Given the description of an element on the screen output the (x, y) to click on. 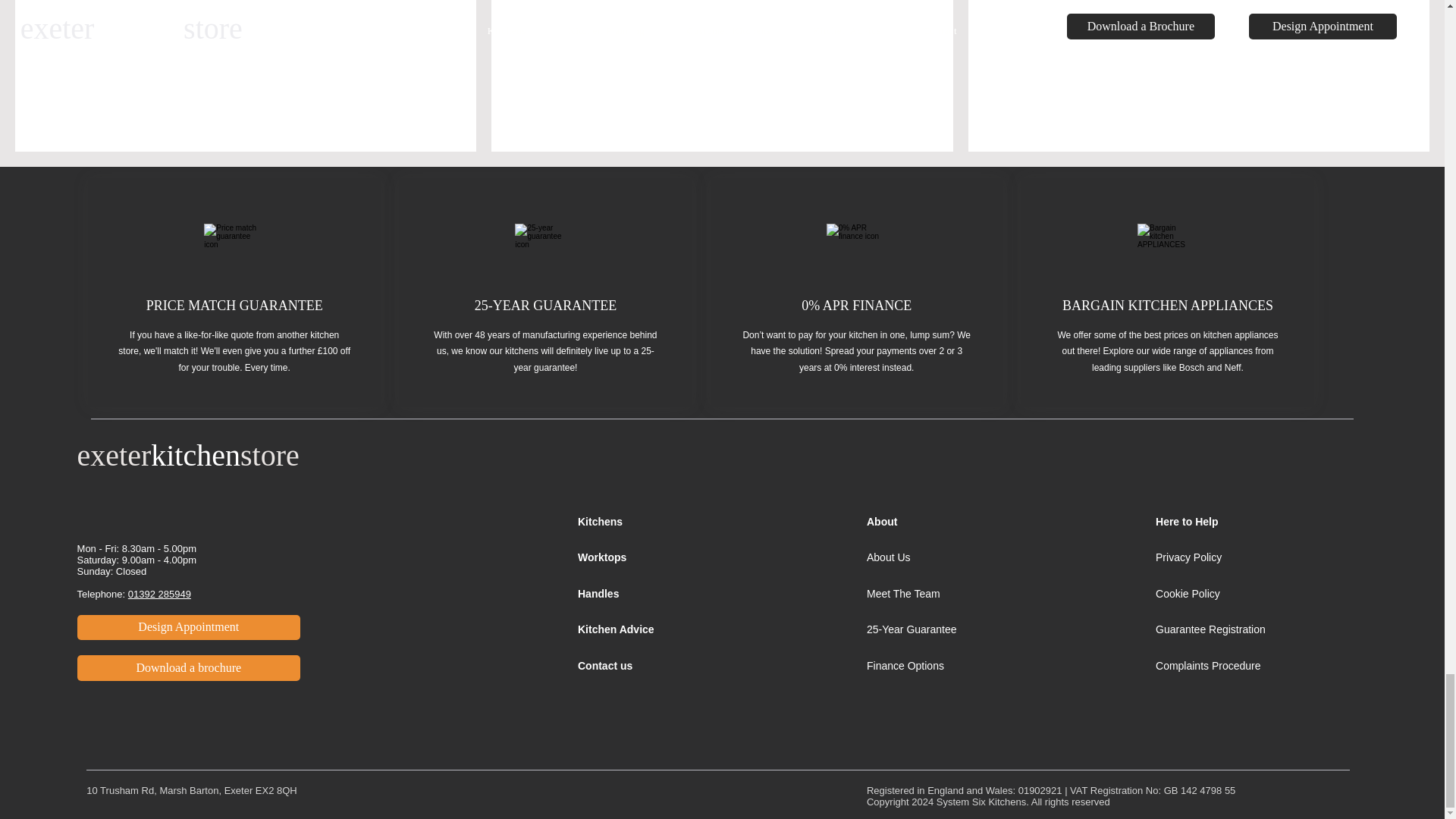
Cookie Policy (1188, 593)
Privacy Policy (1188, 557)
exeterkitchenstore (188, 455)
Meet The Team (903, 593)
Finance Options (904, 665)
Kitchen Advice (615, 629)
Handles (598, 593)
About Us (888, 557)
Worktops (602, 557)
Kitchens  (602, 521)
25-Year Guarantee (911, 629)
Contact us (604, 665)
